Given the description of an element on the screen output the (x, y) to click on. 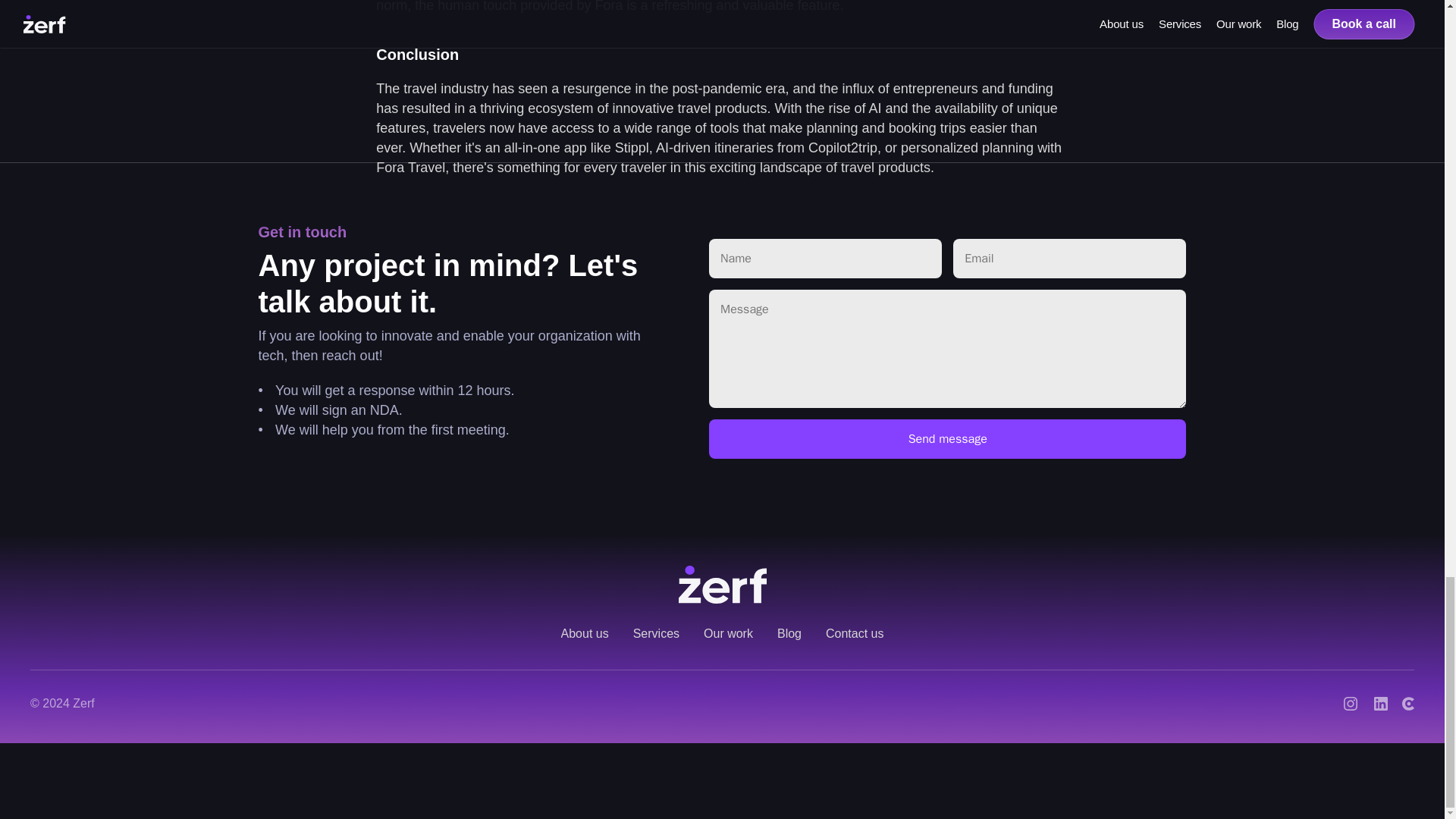
Our work (727, 633)
Services (656, 633)
Send message (947, 437)
Contact us (854, 633)
Send message (947, 437)
About us (584, 633)
Blog (789, 633)
